Given the description of an element on the screen output the (x, y) to click on. 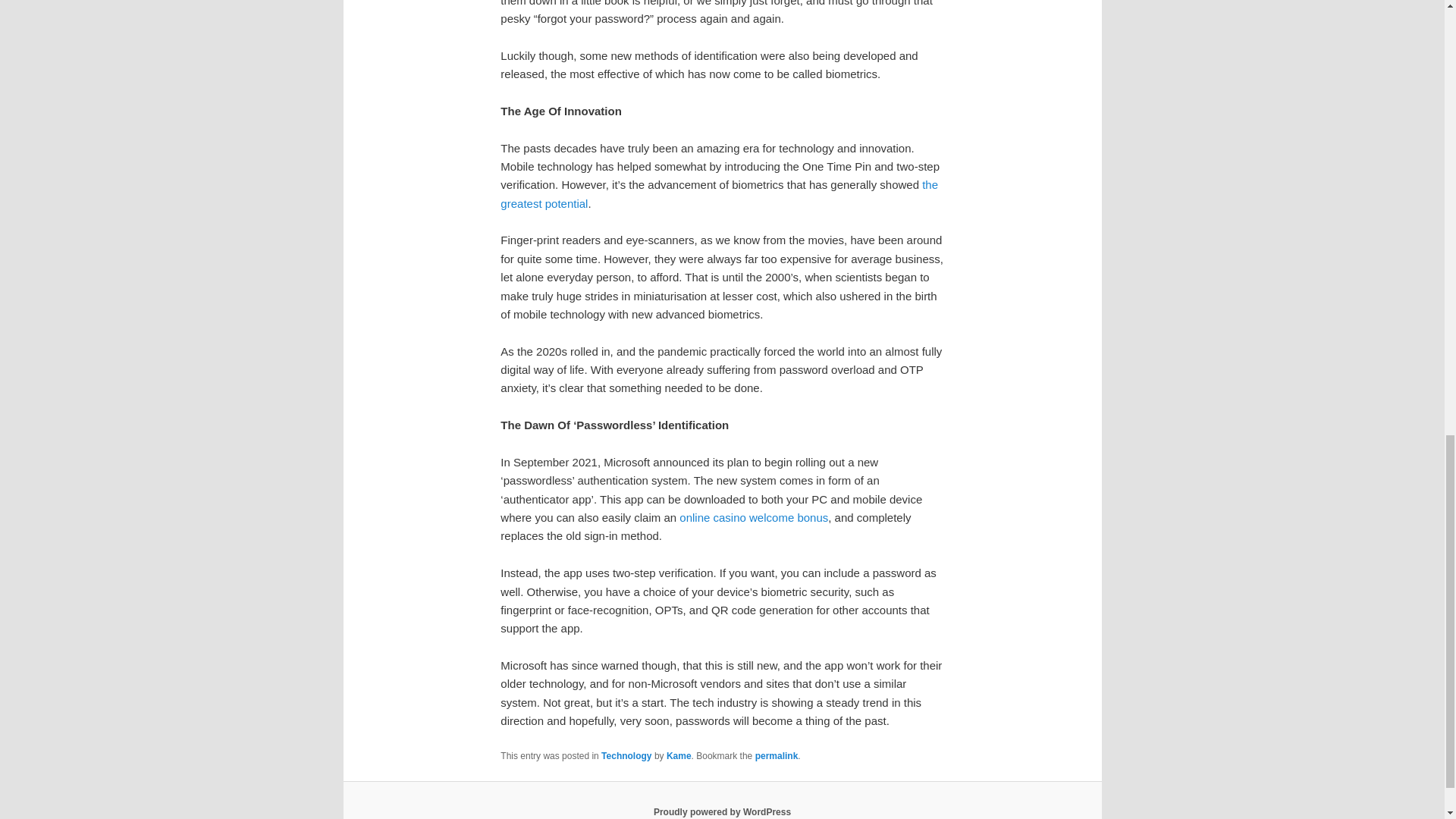
permalink (776, 756)
Kame (678, 756)
online casino welcome bonus (753, 517)
Technology (625, 756)
Proudly powered by WordPress (721, 811)
Semantic Personal Publishing Platform (721, 811)
the greatest potential (718, 193)
